Given the description of an element on the screen output the (x, y) to click on. 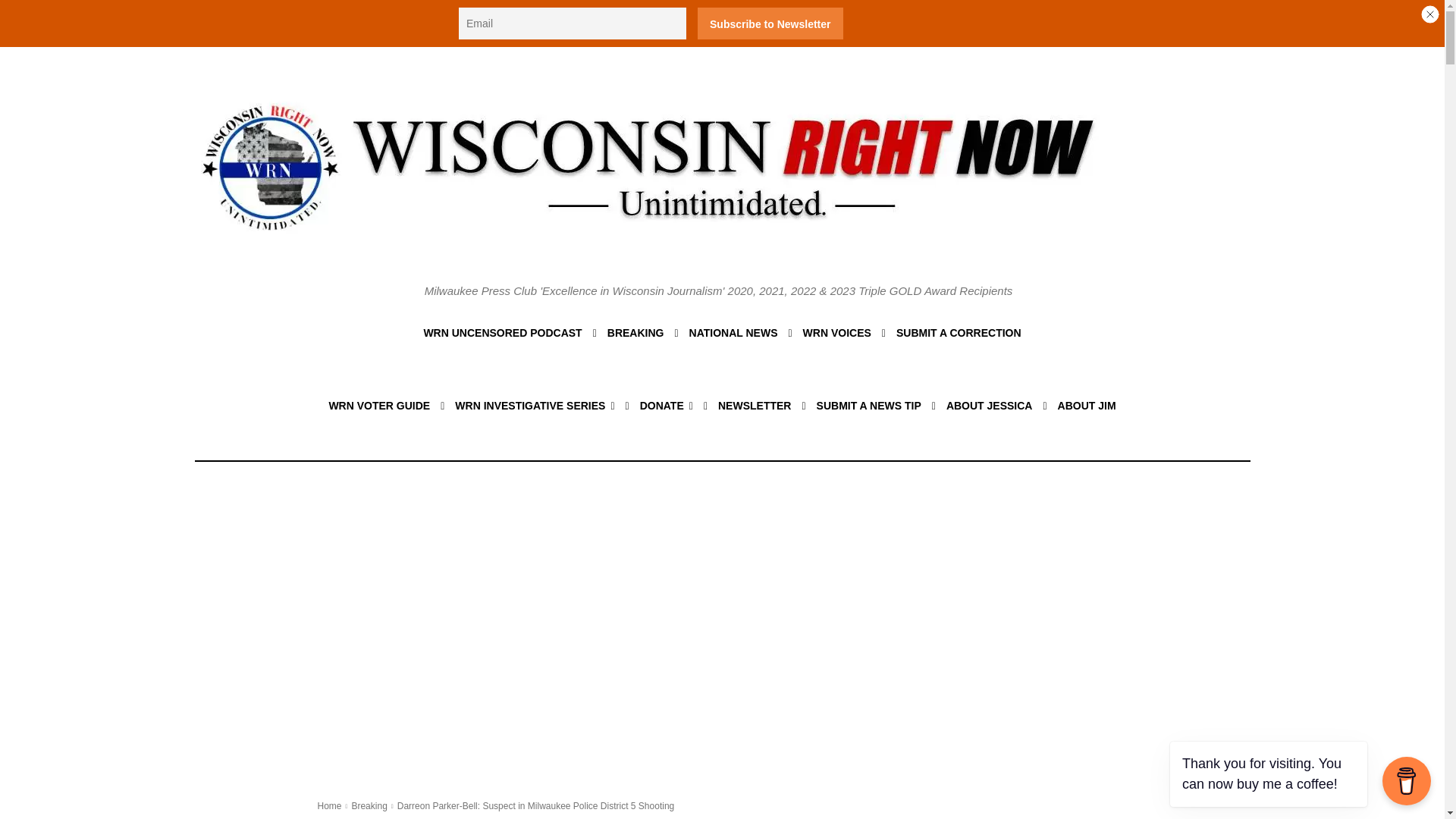
NATIONAL NEWS (733, 332)
SUBMIT A NEWS TIP (868, 405)
BREAKING (635, 332)
NEWSLETTER (754, 405)
ABOUT JIM (1086, 405)
SUBMIT A CORRECTION (958, 332)
WRN INVESTIGATIVE SERIES (534, 405)
WRN VOTER GUIDE (379, 405)
DONATE (665, 405)
